Given the description of an element on the screen output the (x, y) to click on. 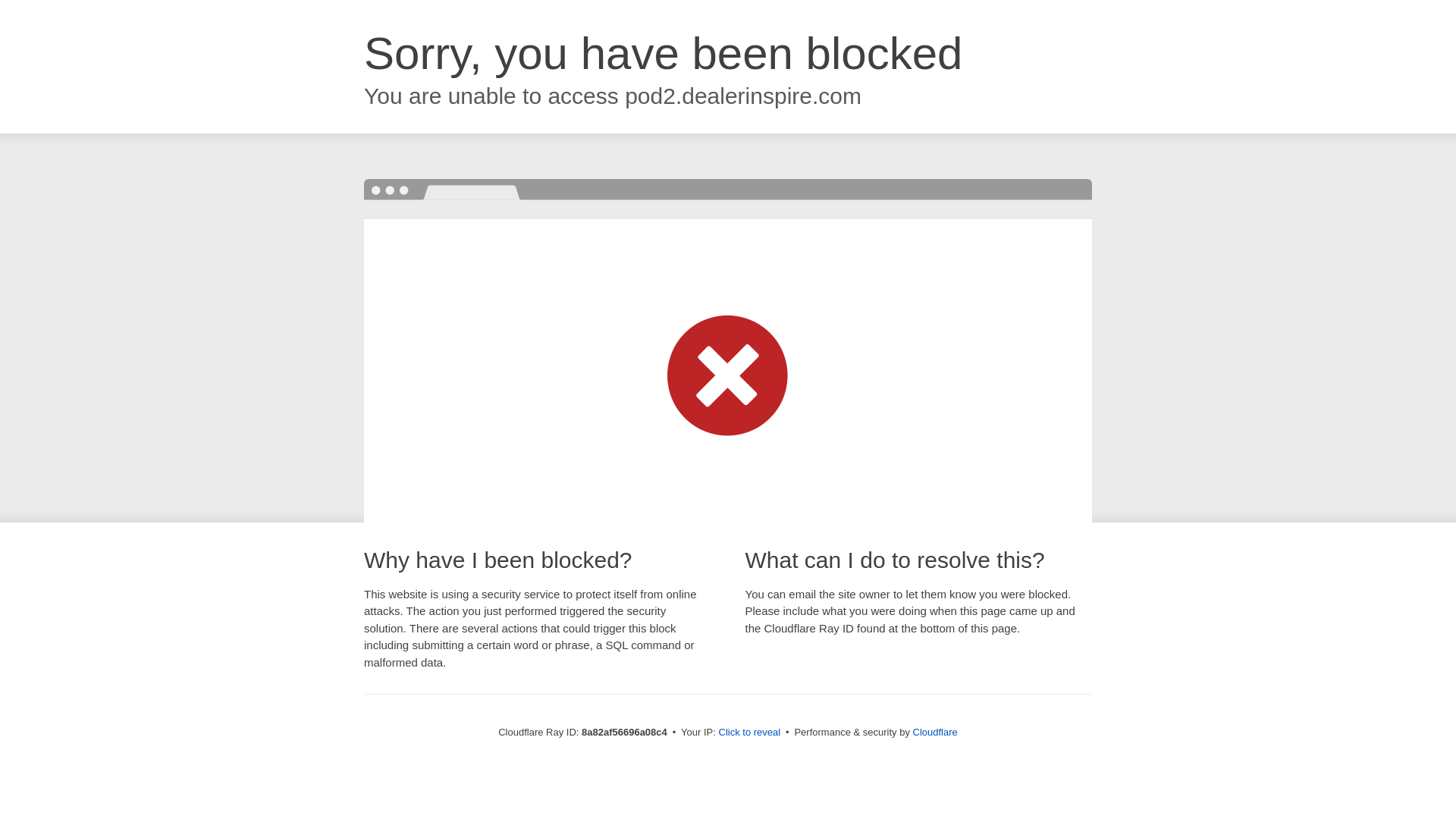
Click to reveal (749, 732)
Cloudflare (935, 731)
